Given the description of an element on the screen output the (x, y) to click on. 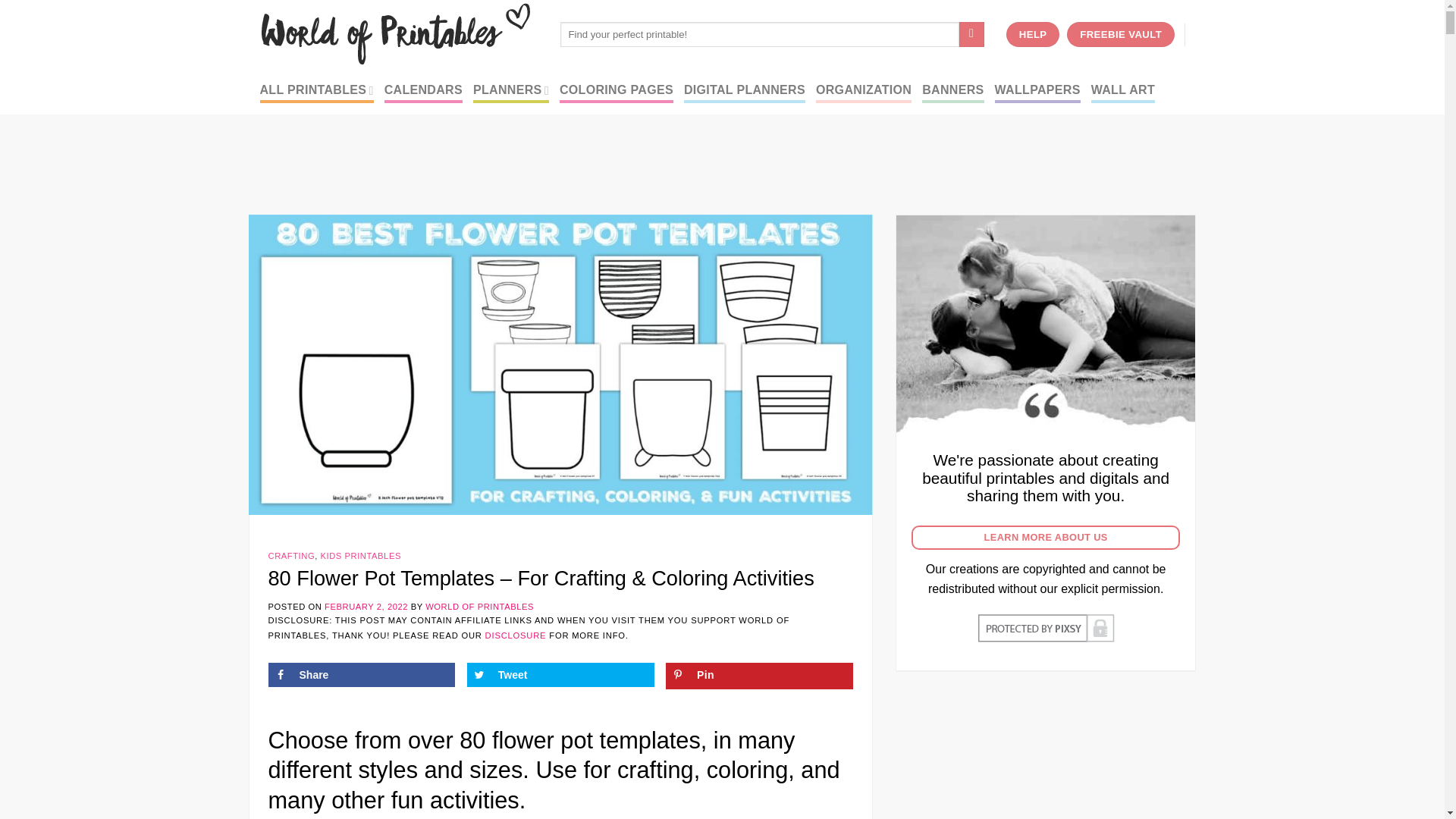
CALENDARS (423, 90)
Share on Facebook (361, 674)
HELP (1032, 34)
PLANNERS (510, 90)
Search (971, 34)
Save to Pinterest (759, 675)
FREEBIE VAULT (1120, 34)
Share on Twitter (560, 674)
ALL PRINTABLES (315, 90)
